Given the description of an element on the screen output the (x, y) to click on. 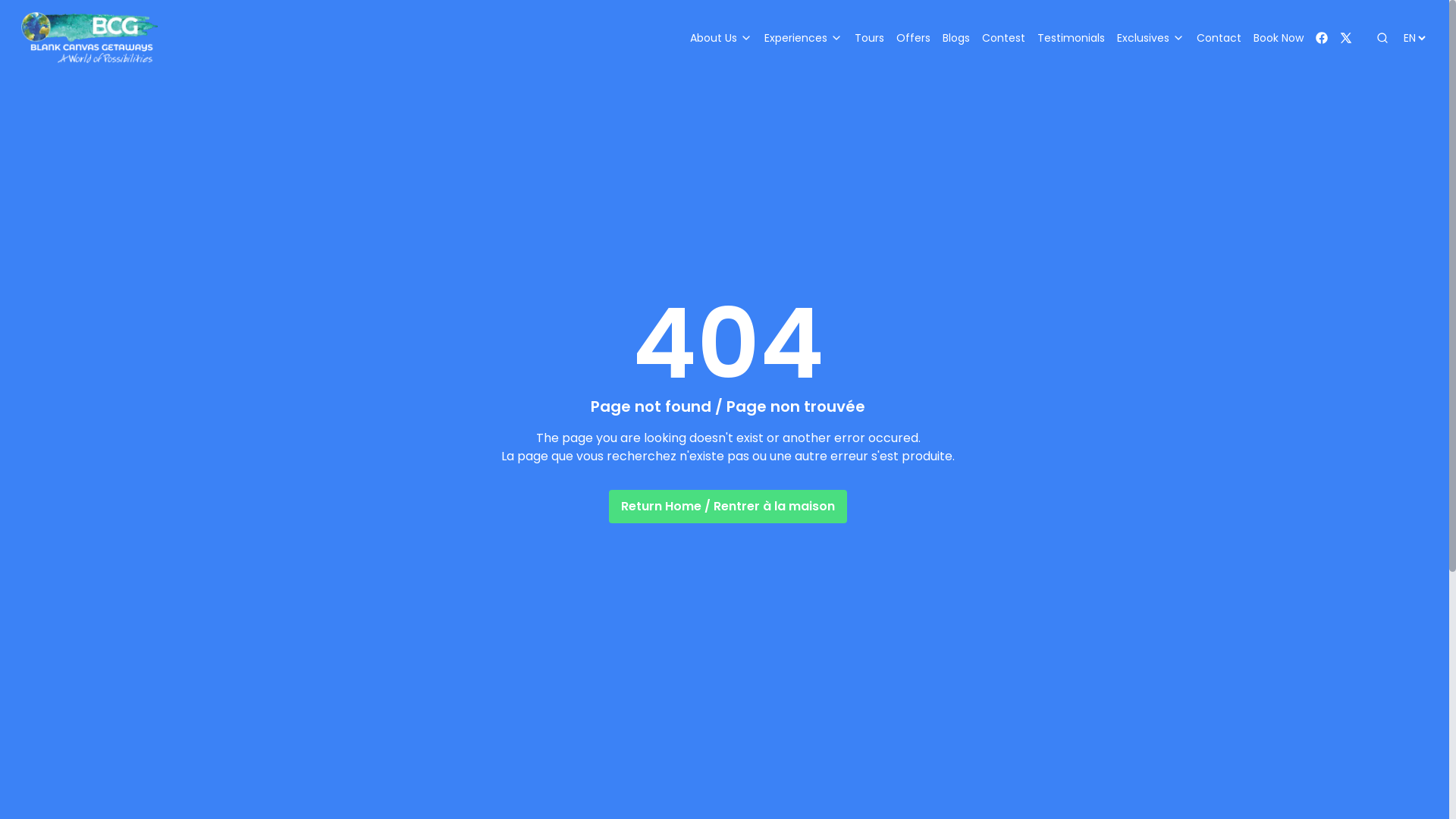
Contest Element type: text (1003, 37)
About Us Element type: text (721, 37)
Book Now Element type: text (1278, 37)
Testimonials Element type: text (1070, 37)
Contact Element type: text (1218, 37)
Blogs Element type: text (955, 37)
Offers Element type: text (913, 37)
Tours Element type: text (869, 37)
Experiences Element type: text (803, 37)
Exclusives Element type: text (1150, 37)
